Given the description of an element on the screen output the (x, y) to click on. 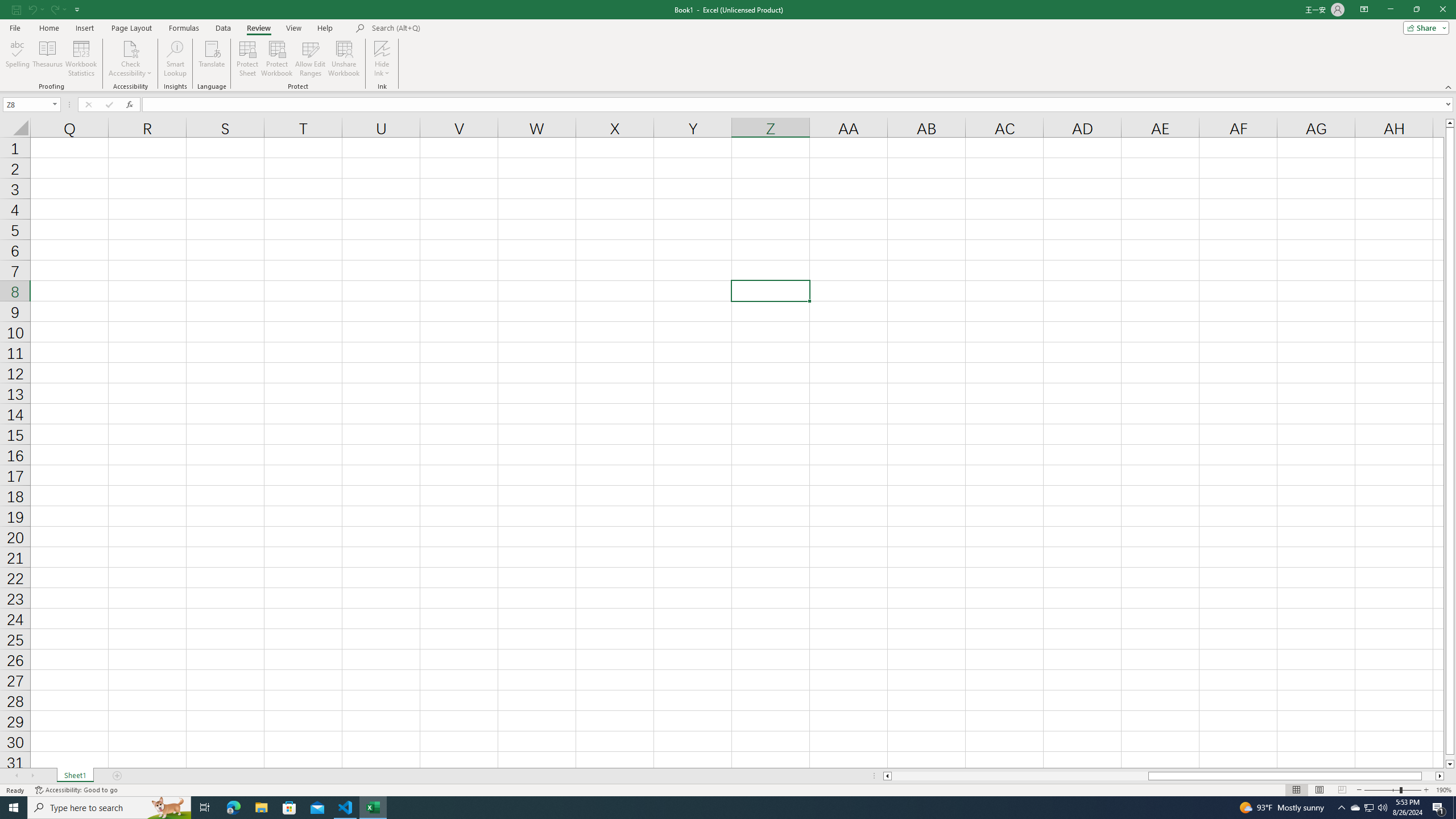
Customize Quick Access Toolbar (77, 9)
Formula Bar (798, 104)
Collapse the Ribbon (1448, 86)
System (6, 6)
System (6, 6)
Spelling... (17, 58)
